Given the description of an element on the screen output the (x, y) to click on. 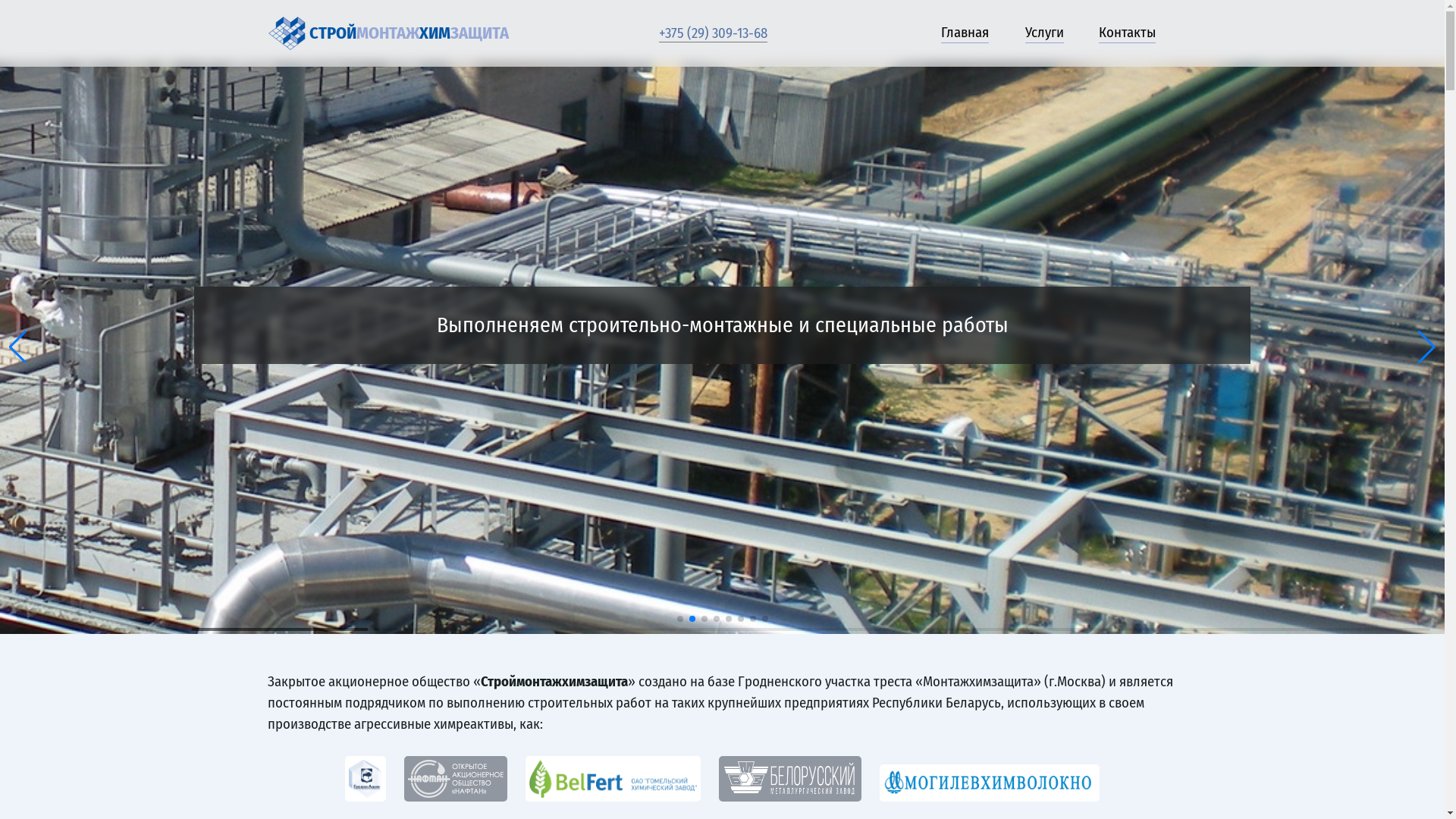
+375 (29) 309-13-68 Element type: text (712, 33)
